Given the description of an element on the screen output the (x, y) to click on. 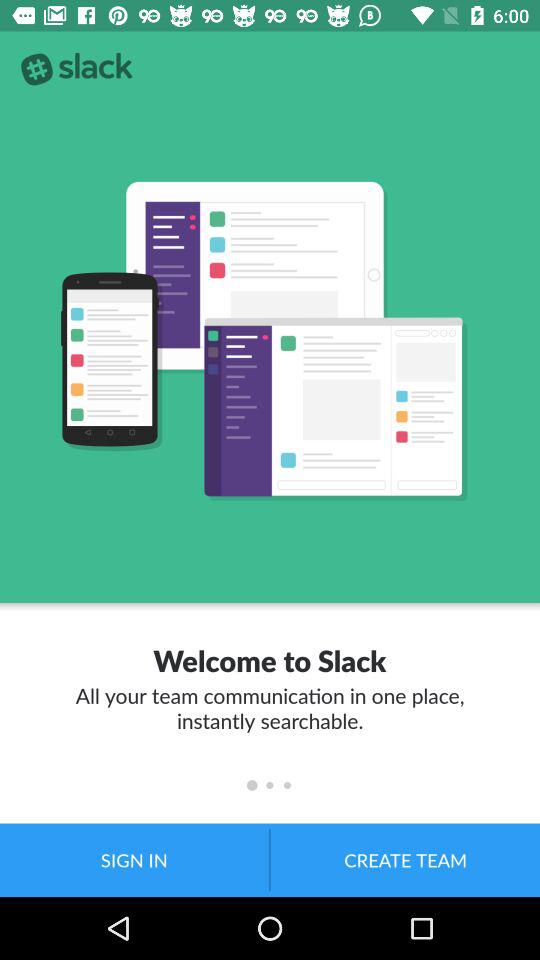
open the item at the bottom left corner (134, 859)
